Given the description of an element on the screen output the (x, y) to click on. 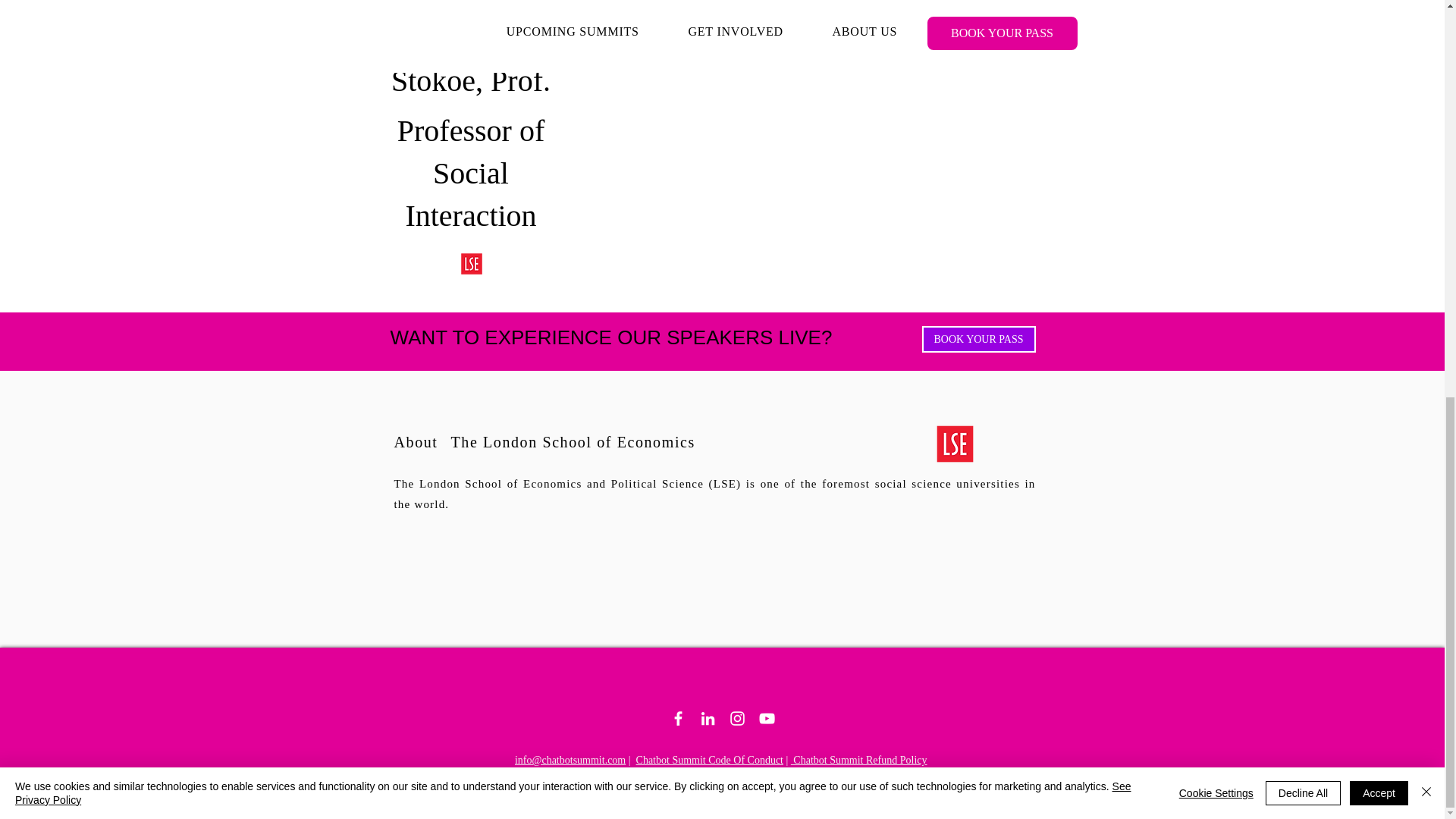
LSE logo - 450x150px.png (954, 443)
LSE logo - 450x150px.png (471, 263)
Privacy Policy (811, 772)
Decline All (1302, 21)
Terms and Conditions (899, 772)
Elizabeth Stokoe, Prof. (471, 2)
BOOK YOUR PASS (978, 338)
See Privacy Policy (572, 21)
Accept (1378, 21)
 Chatbot Summit Refund Policy (858, 759)
